Given the description of an element on the screen output the (x, y) to click on. 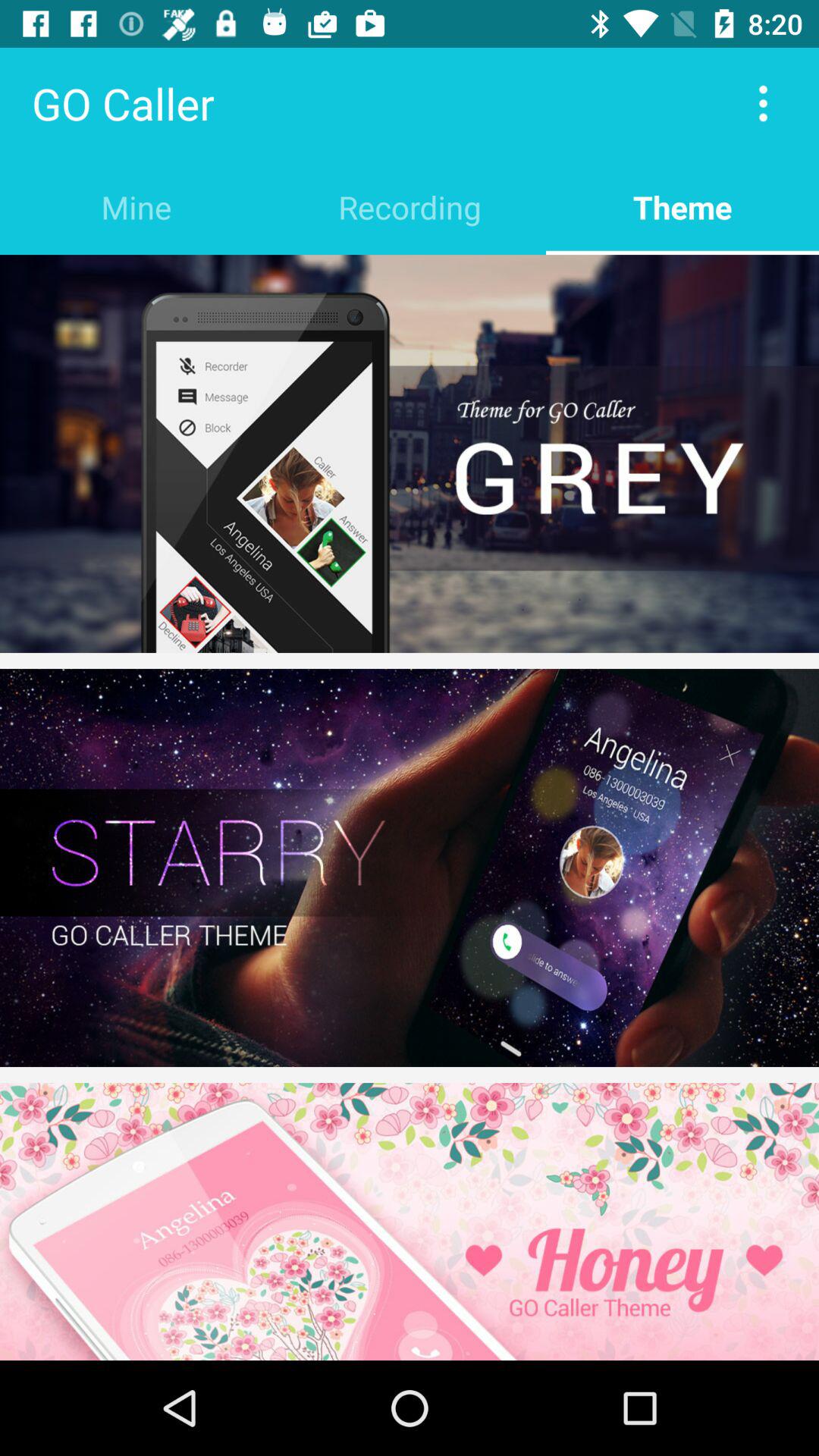
view more options (763, 103)
